Given the description of an element on the screen output the (x, y) to click on. 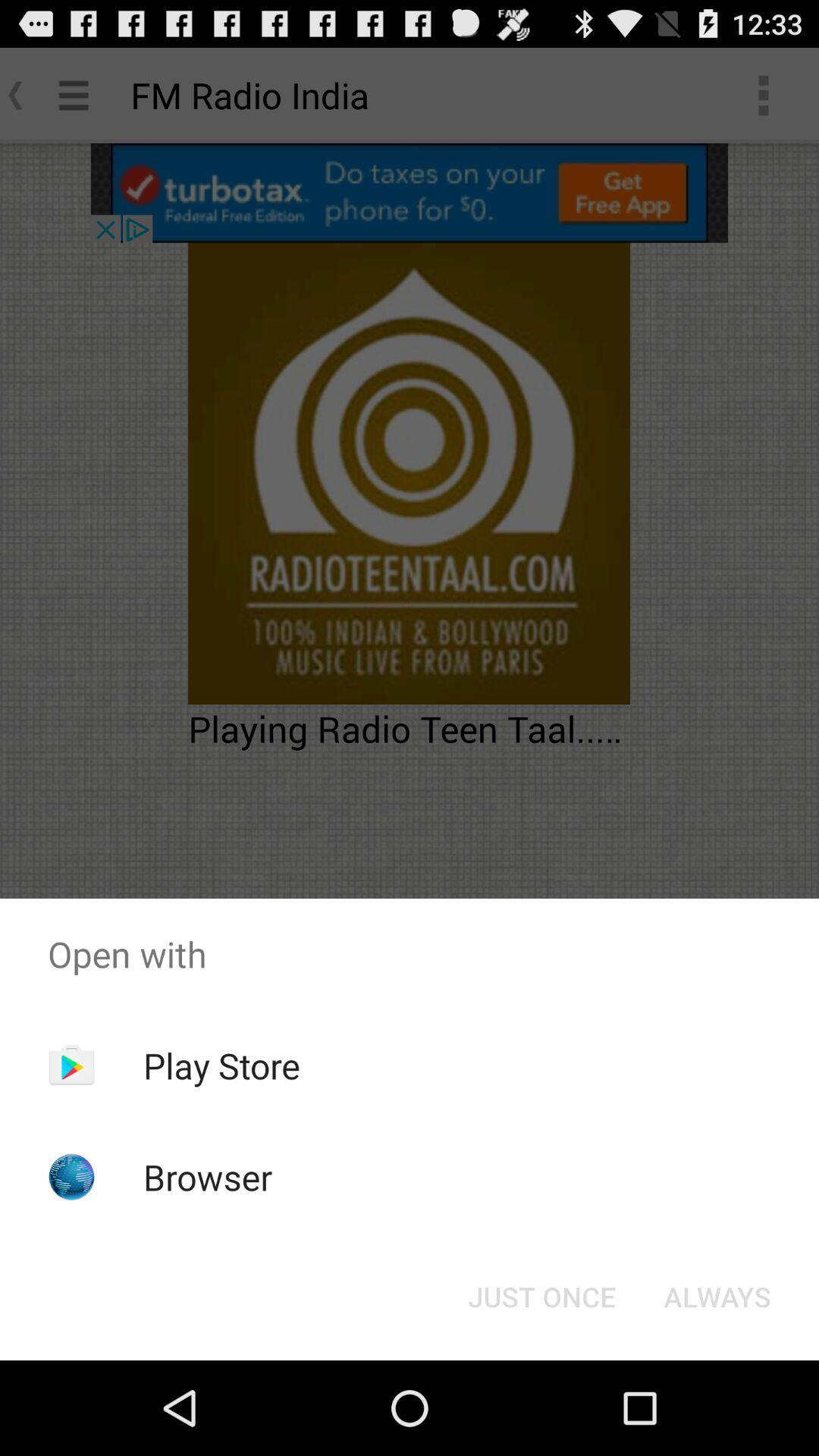
turn on the browser item (207, 1176)
